Given the description of an element on the screen output the (x, y) to click on. 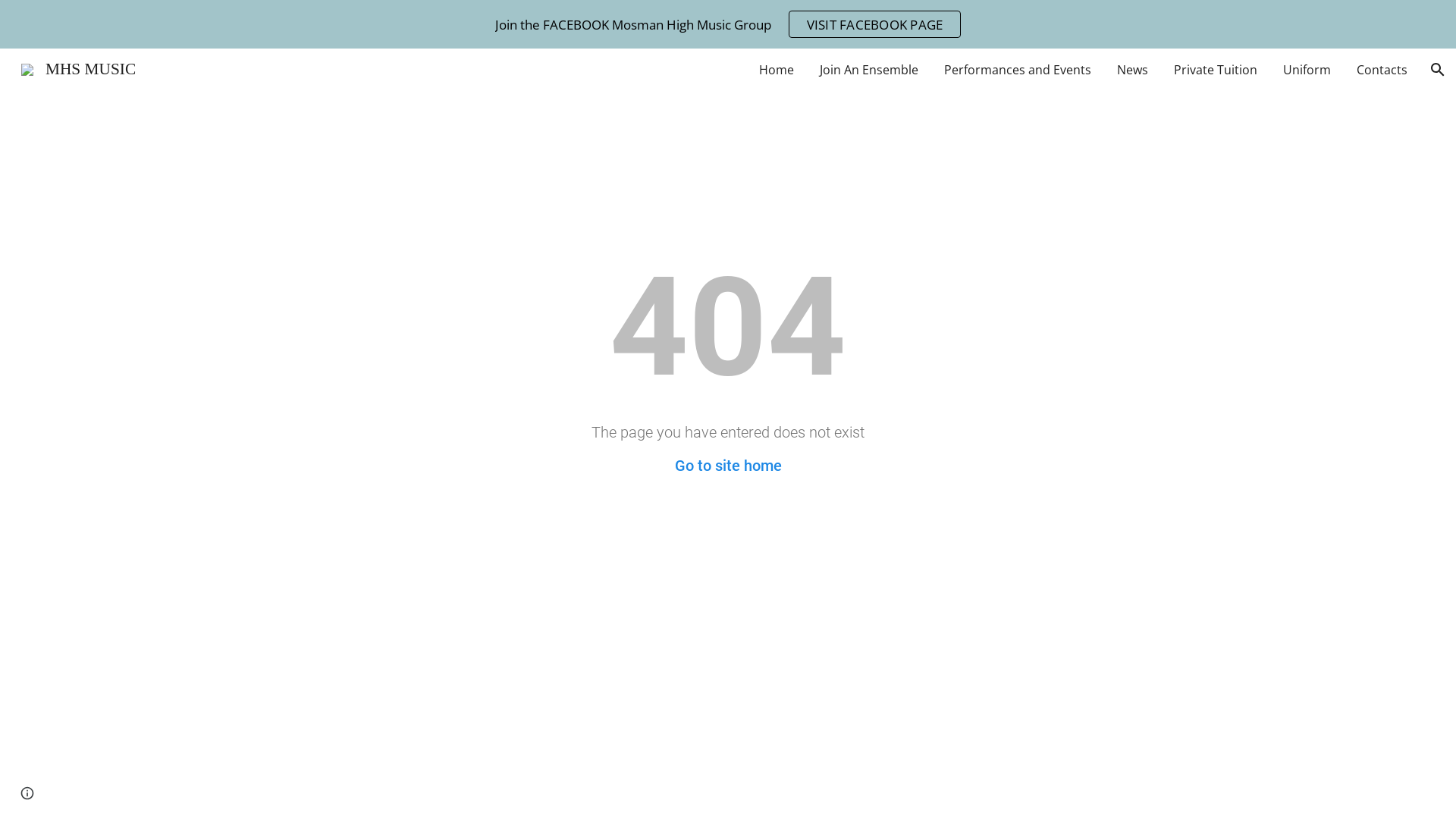
Contacts Element type: text (1382, 69)
Private Tuition Element type: text (1215, 69)
Performances and Events Element type: text (1017, 69)
Join An Ensemble Element type: text (868, 69)
MHS MUSIC Element type: text (78, 68)
VISIT FACEBOOK PAGE Element type: text (874, 24)
Home Element type: text (776, 69)
Go to site home Element type: text (727, 465)
News Element type: text (1132, 69)
Uniform Element type: text (1306, 69)
